Given the description of an element on the screen output the (x, y) to click on. 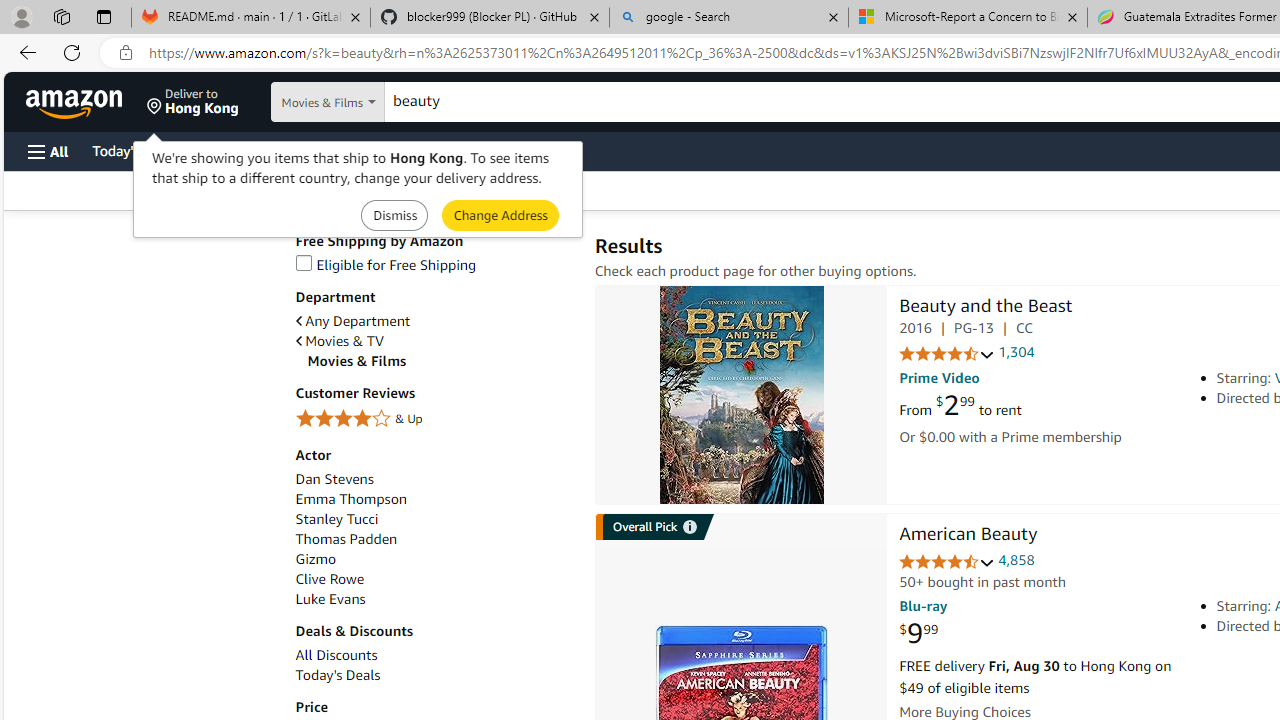
Stanley Tucci (336, 519)
Clive Rowe (434, 579)
Open Menu (48, 151)
Customer Service (256, 150)
Thomas Padden (346, 538)
4.6 out of 5 stars (946, 562)
Registry (360, 150)
Movies & TV (434, 340)
Any Department (434, 321)
1,304 (1016, 352)
Blu-ray (923, 606)
Submit (499, 214)
4 Stars & Up& Up (434, 420)
Today's Deals (434, 675)
